Given the description of an element on the screen output the (x, y) to click on. 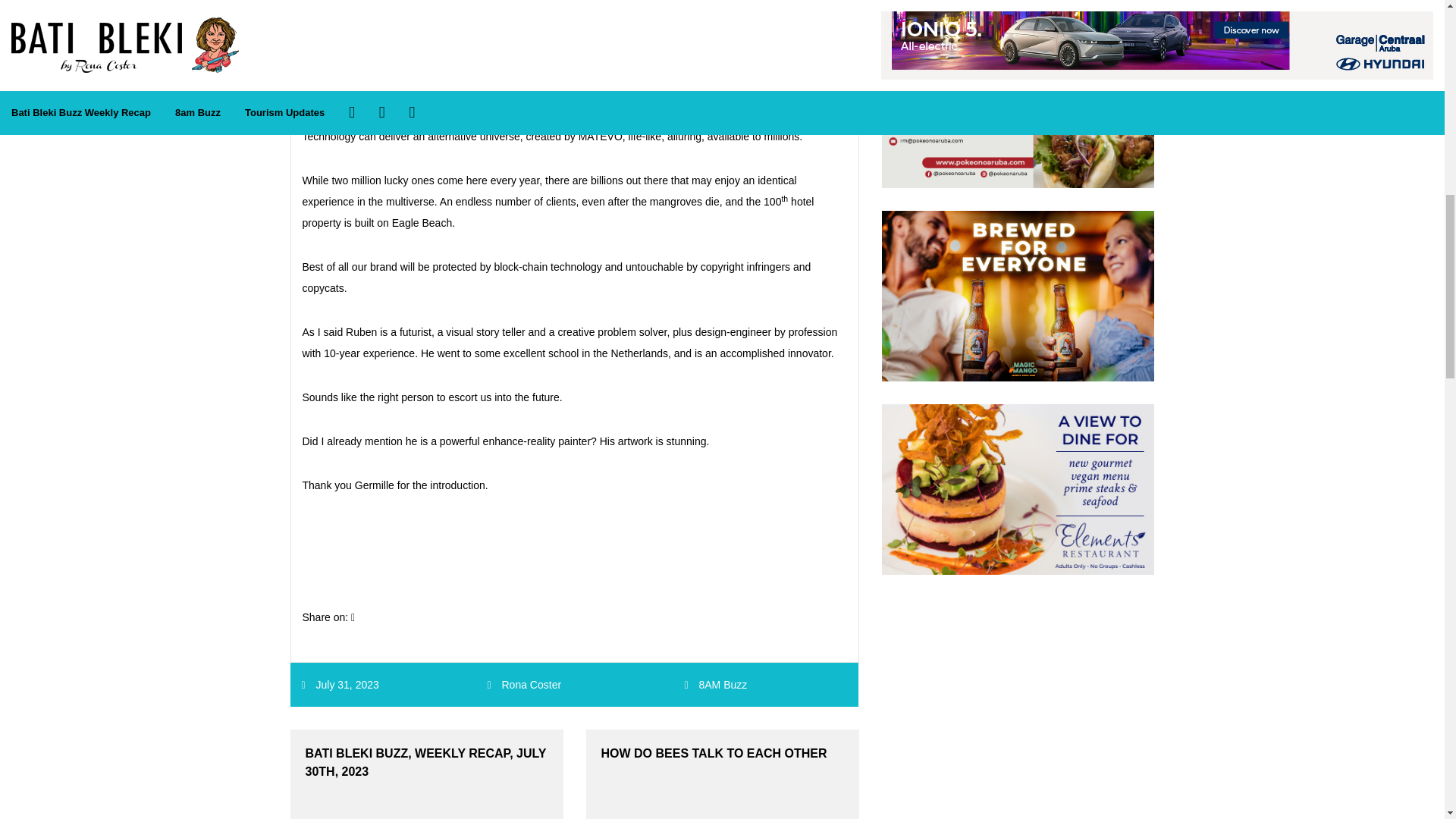
8AM Buzz (722, 684)
Share on: (328, 616)
HOW DO BEES TALK TO EACH OTHER (722, 774)
BATI BLEKI BUZZ, WEEKLY RECAP, JULY 30TH, 2023 (425, 774)
